Given the description of an element on the screen output the (x, y) to click on. 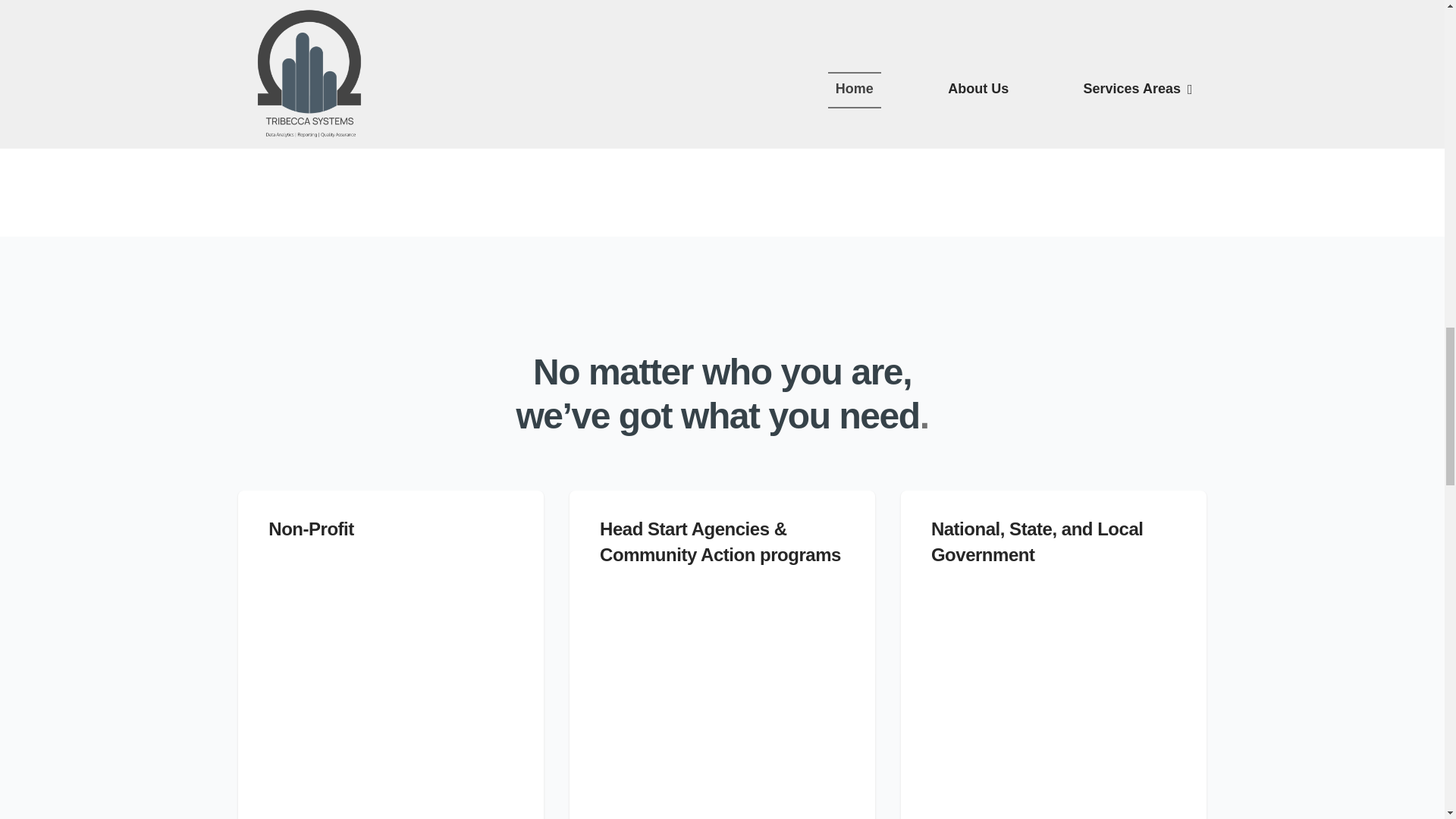
Professional Firms (1052, 698)
Entrepreneurs (721, 698)
Assess Quality and Compliance (919, 28)
Come up with an organizational plan of action (960, 86)
Private clients (391, 713)
